Given the description of an element on the screen output the (x, y) to click on. 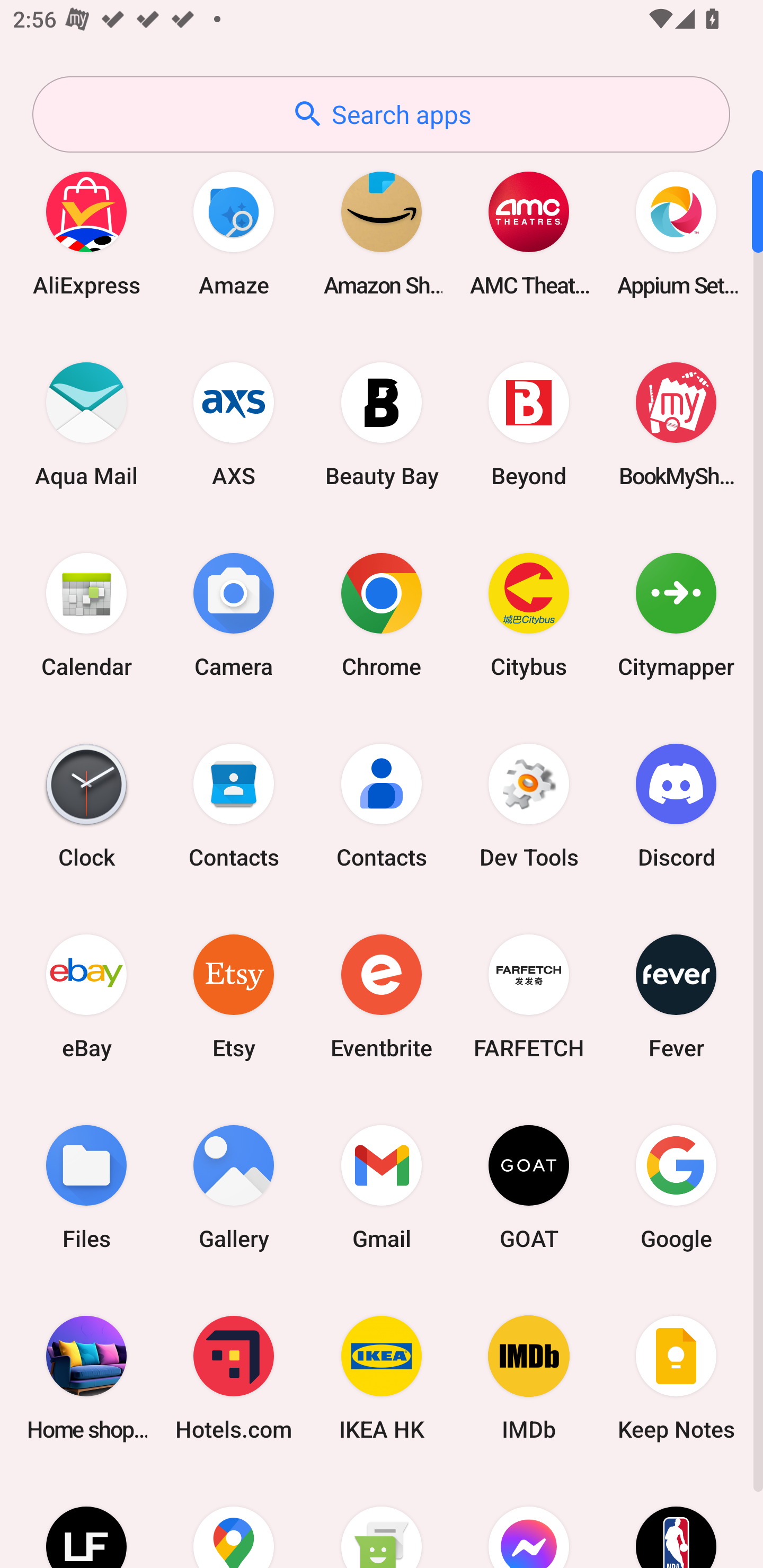
Citymapper (676, 614)
